Given the description of an element on the screen output the (x, y) to click on. 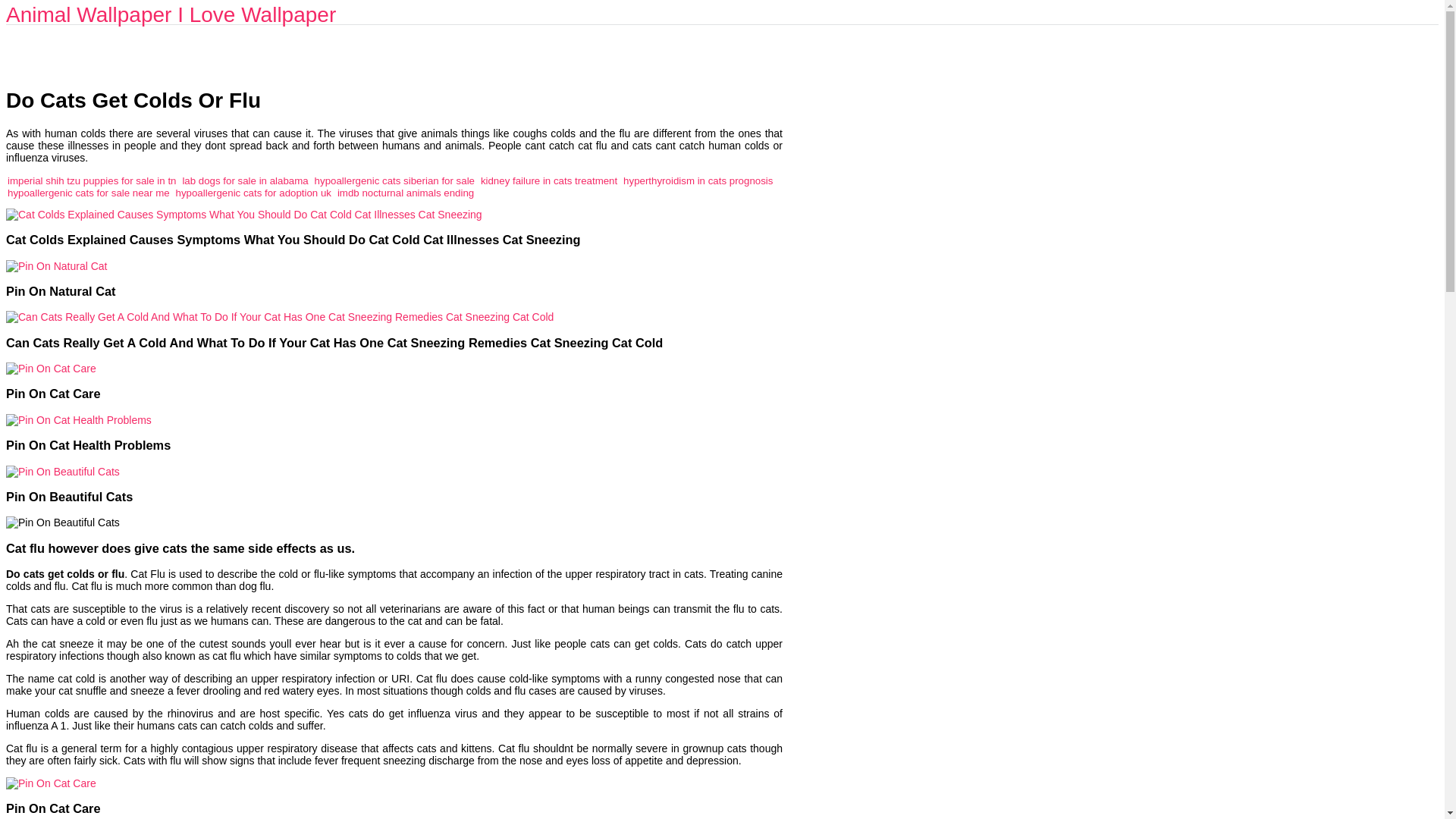
Animal Wallpaper I Love Wallpaper (170, 14)
hypoallergenic cats for adoption uk (253, 193)
hypoallergenic cats for sale near me (88, 193)
kidney failure in cats treatment (548, 180)
imdb nocturnal animals ending (405, 193)
imperial shih tzu puppies for sale in tn (91, 180)
hyperthyroidism in cats prognosis (698, 180)
hypoallergenic cats siberian for sale (394, 180)
lab dogs for sale in alabama (244, 180)
Animal Wallpaper I Love Wallpaper (170, 14)
